Given the description of an element on the screen output the (x, y) to click on. 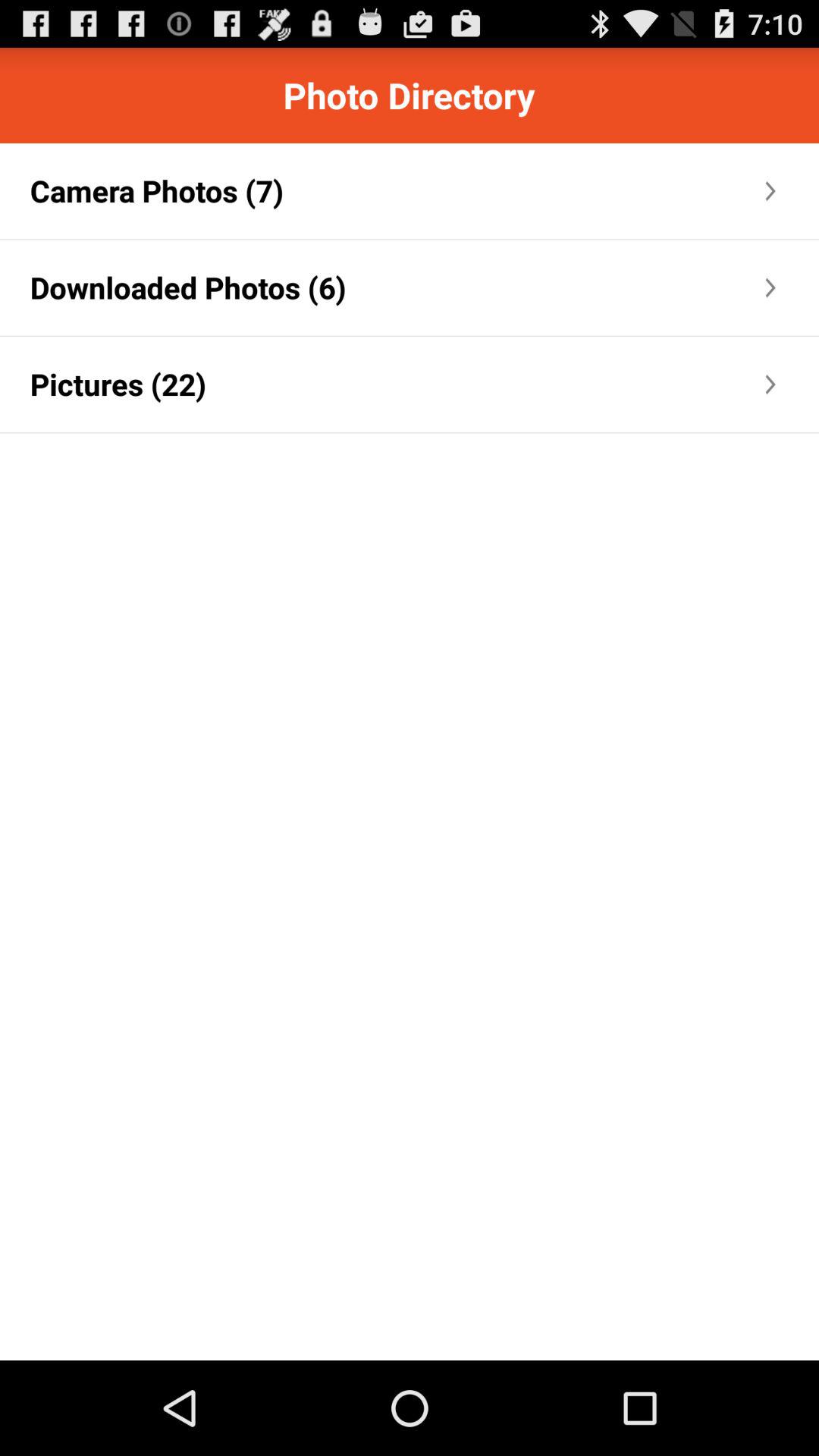
choose app to the right of downloaded photos (6) item (554, 287)
